Given the description of an element on the screen output the (x, y) to click on. 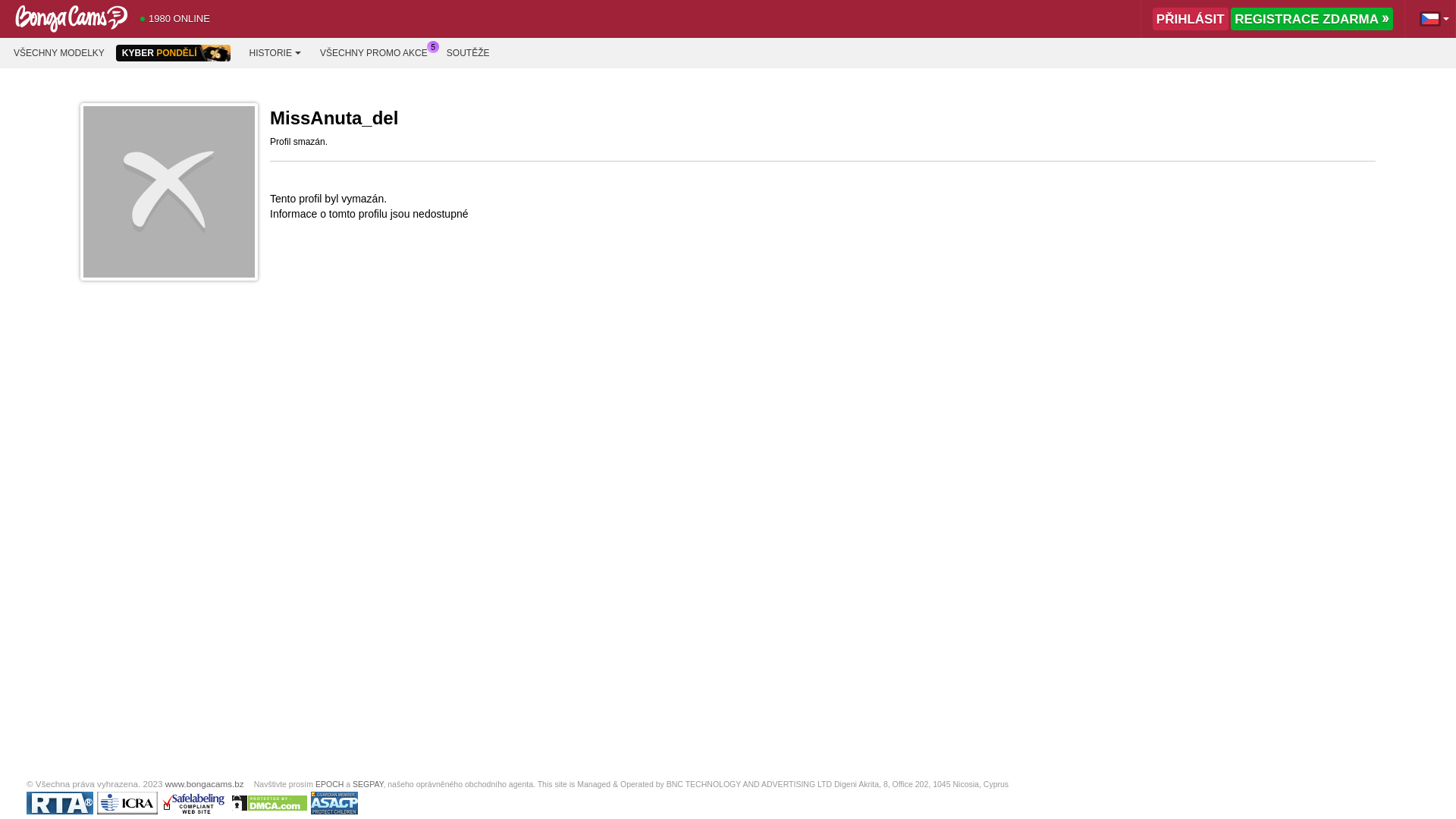
SafeLabeling Element type: hover (193, 802)
www.bongacams.bz Element type: text (204, 783)
REGISTRACE ZDARMA Element type: text (1311, 18)
EPOCH Element type: text (329, 783)
SEGPAY Element type: text (367, 783)
Protected by DMCA Element type: hover (269, 802)
ICRA Element type: hover (127, 802)
Association of Sites Advocating Child Protection Element type: hover (333, 802)
RTA Element type: hover (59, 802)
